Given the description of an element on the screen output the (x, y) to click on. 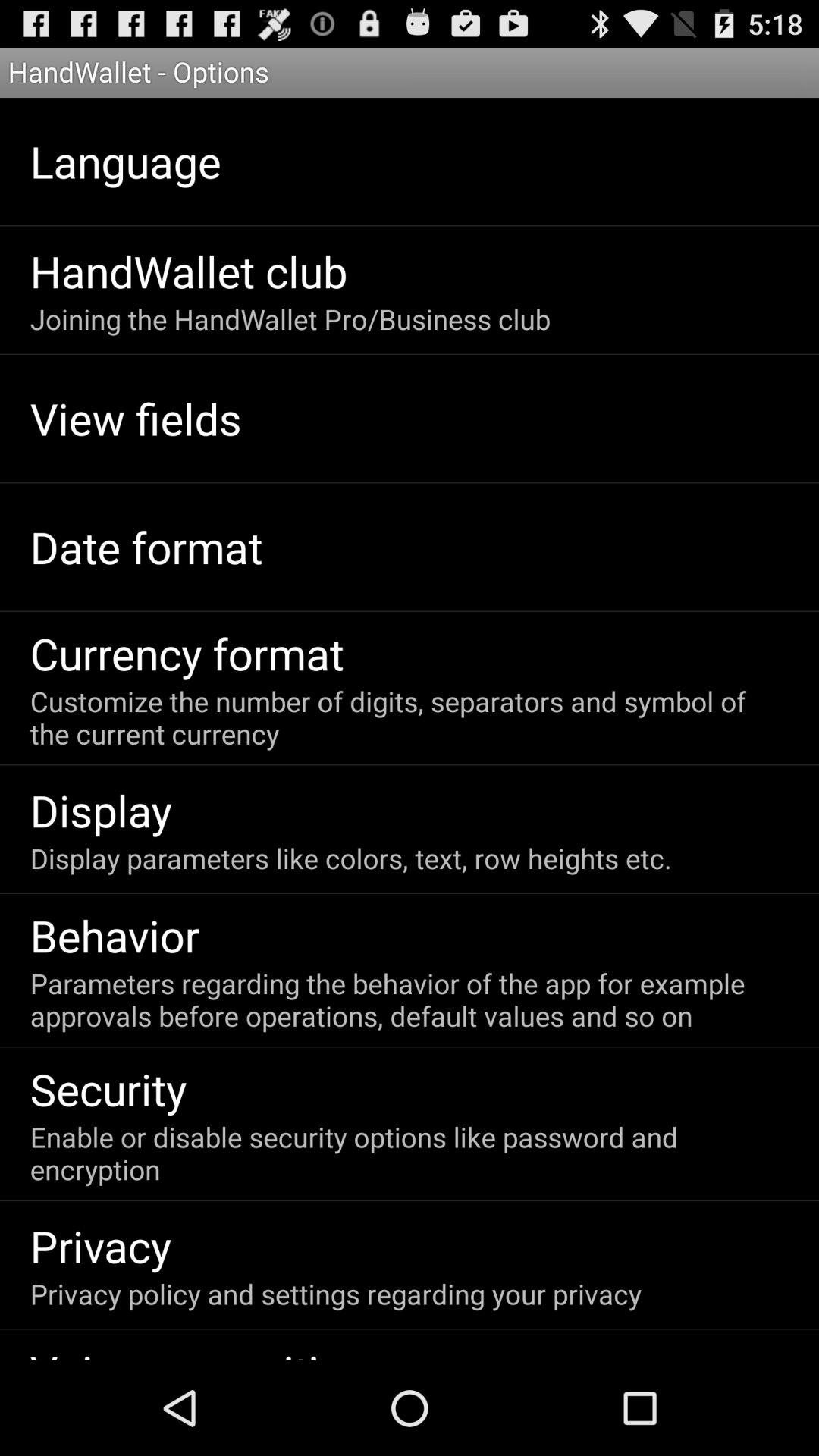
flip until the currency format app (187, 652)
